Given the description of an element on the screen output the (x, y) to click on. 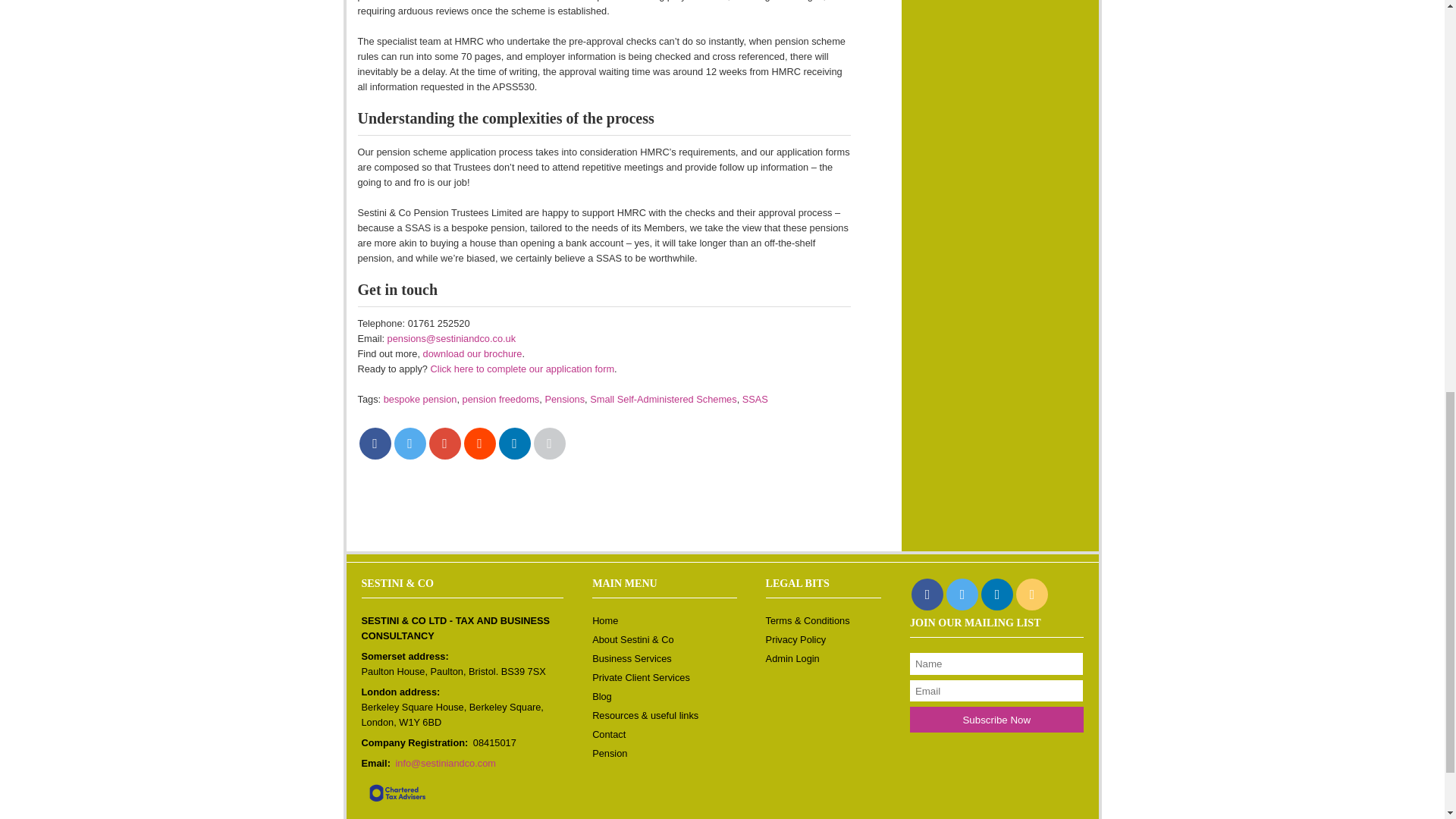
Share on Reddit (480, 443)
Subscribe Now (996, 719)
Click here to complete our application form (522, 368)
download our brochure (472, 353)
SSAS (755, 398)
Share on Facebook (375, 443)
Share via Email (550, 443)
Pensions (564, 398)
Share on Twitter (410, 443)
Small Self-Administered Schemes (662, 398)
